Given the description of an element on the screen output the (x, y) to click on. 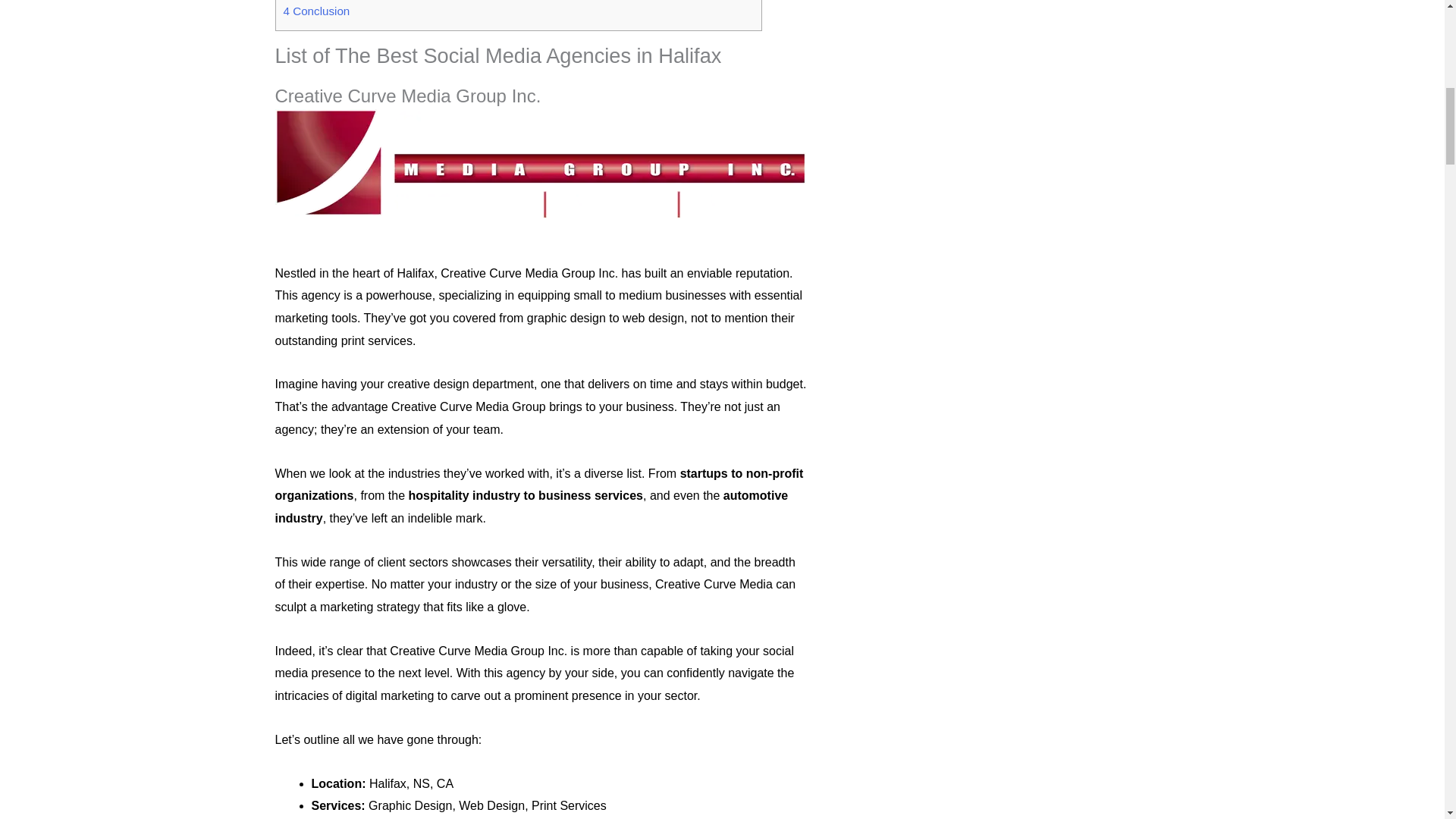
4 Conclusion (316, 10)
